Given the description of an element on the screen output the (x, y) to click on. 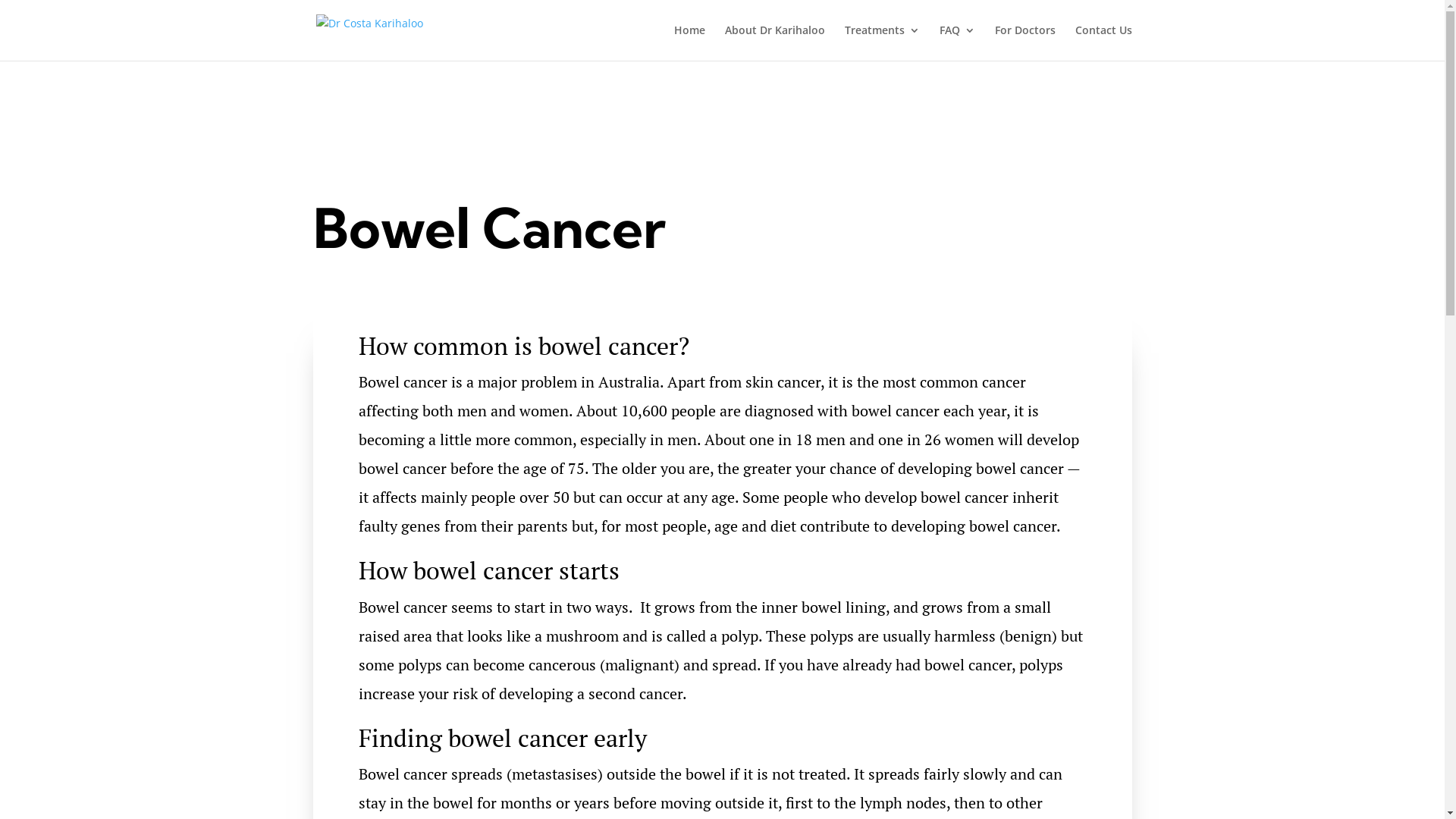
Contact Us Element type: text (1103, 42)
For Doctors Element type: text (1024, 42)
FAQ Element type: text (956, 42)
About Dr Karihaloo Element type: text (774, 42)
Treatments Element type: text (881, 42)
Home Element type: text (688, 42)
